Given the description of an element on the screen output the (x, y) to click on. 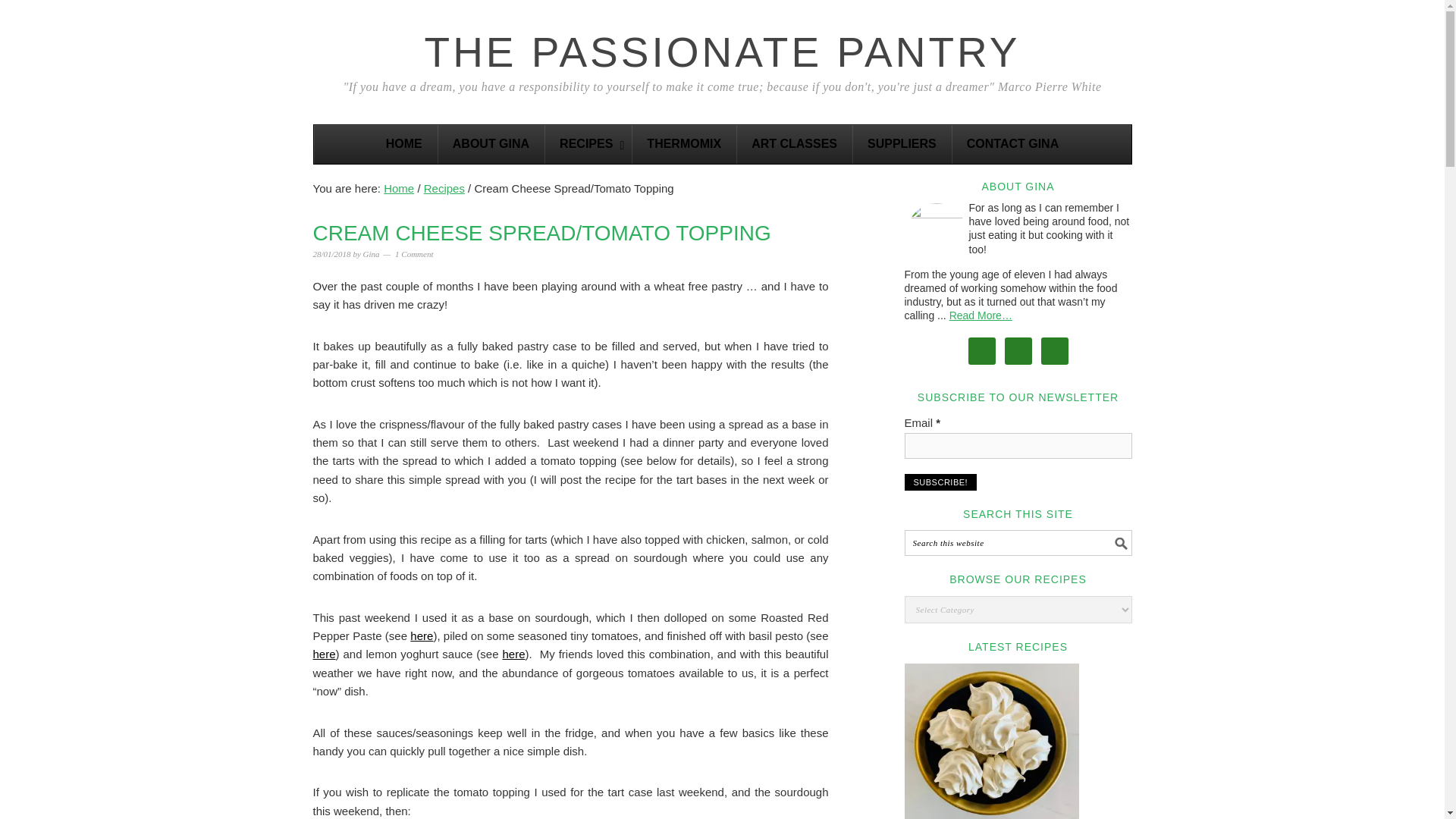
Email (1017, 445)
Subscribe! (940, 482)
ABOUT GINA (491, 144)
RECIPES (587, 144)
THE PASSIONATE PANTRY (722, 52)
HOME (404, 144)
Brown Sugar Meringue Bites (991, 741)
